Given the description of an element on the screen output the (x, y) to click on. 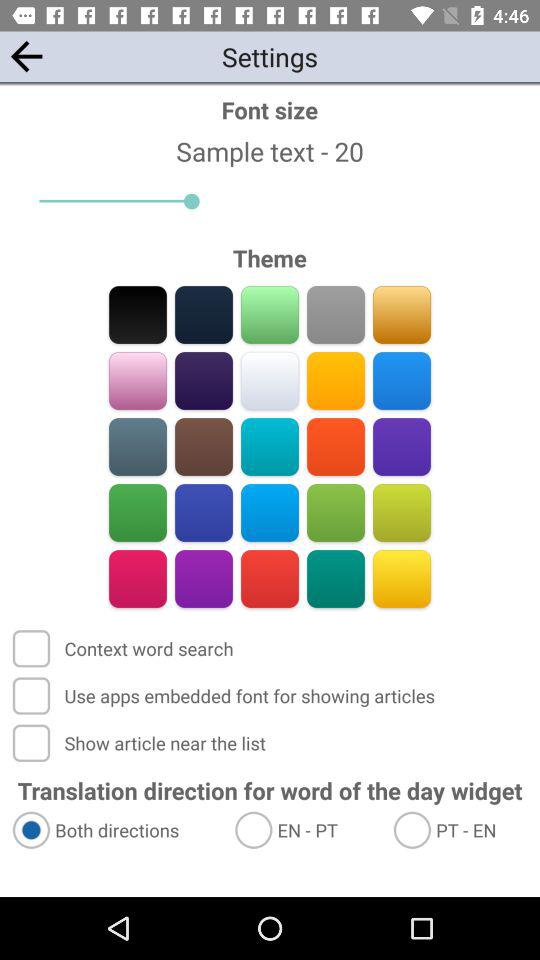
select color (203, 578)
